Given the description of an element on the screen output the (x, y) to click on. 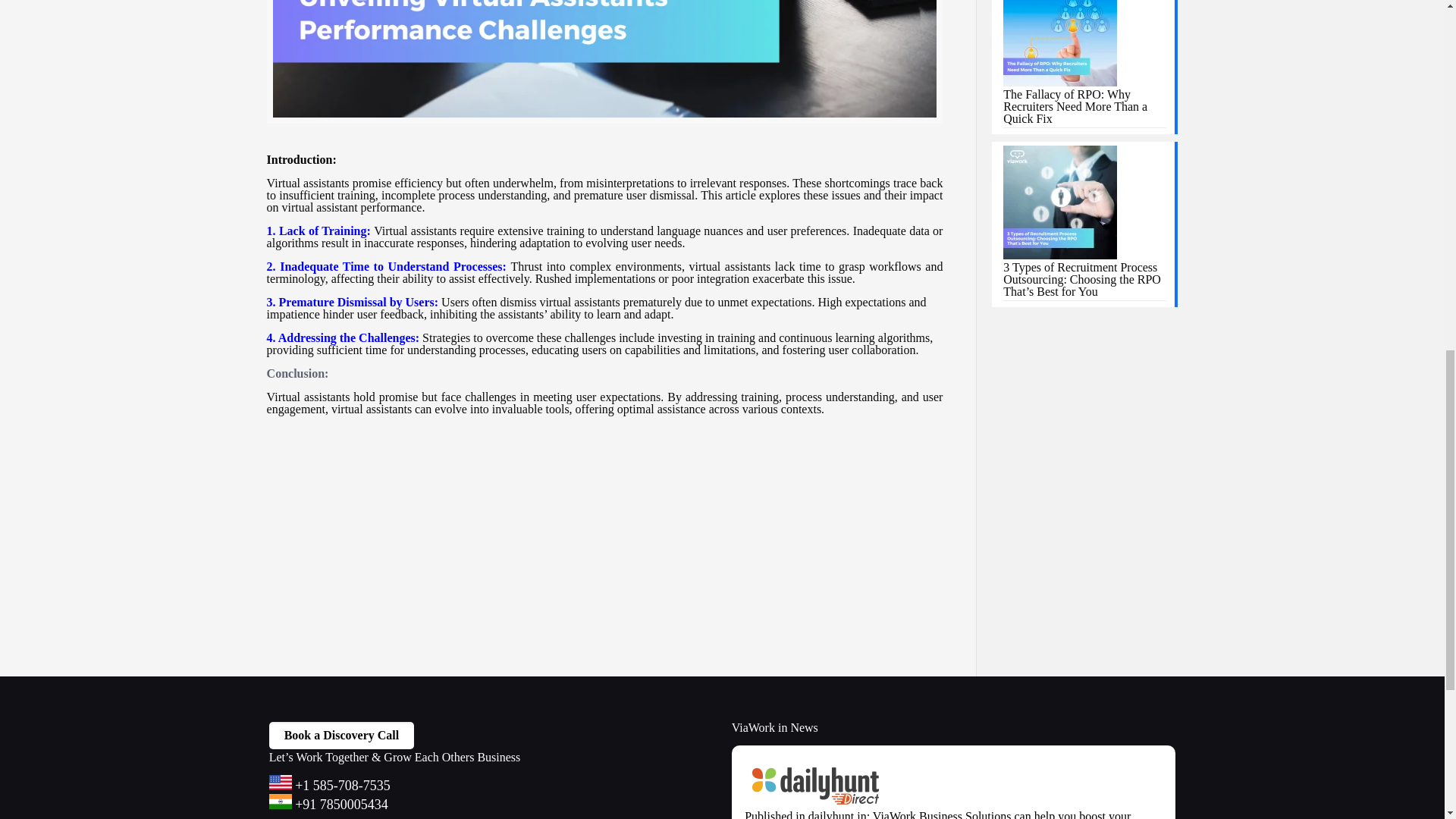
Book a Discovery Call (341, 735)
